Given the description of an element on the screen output the (x, y) to click on. 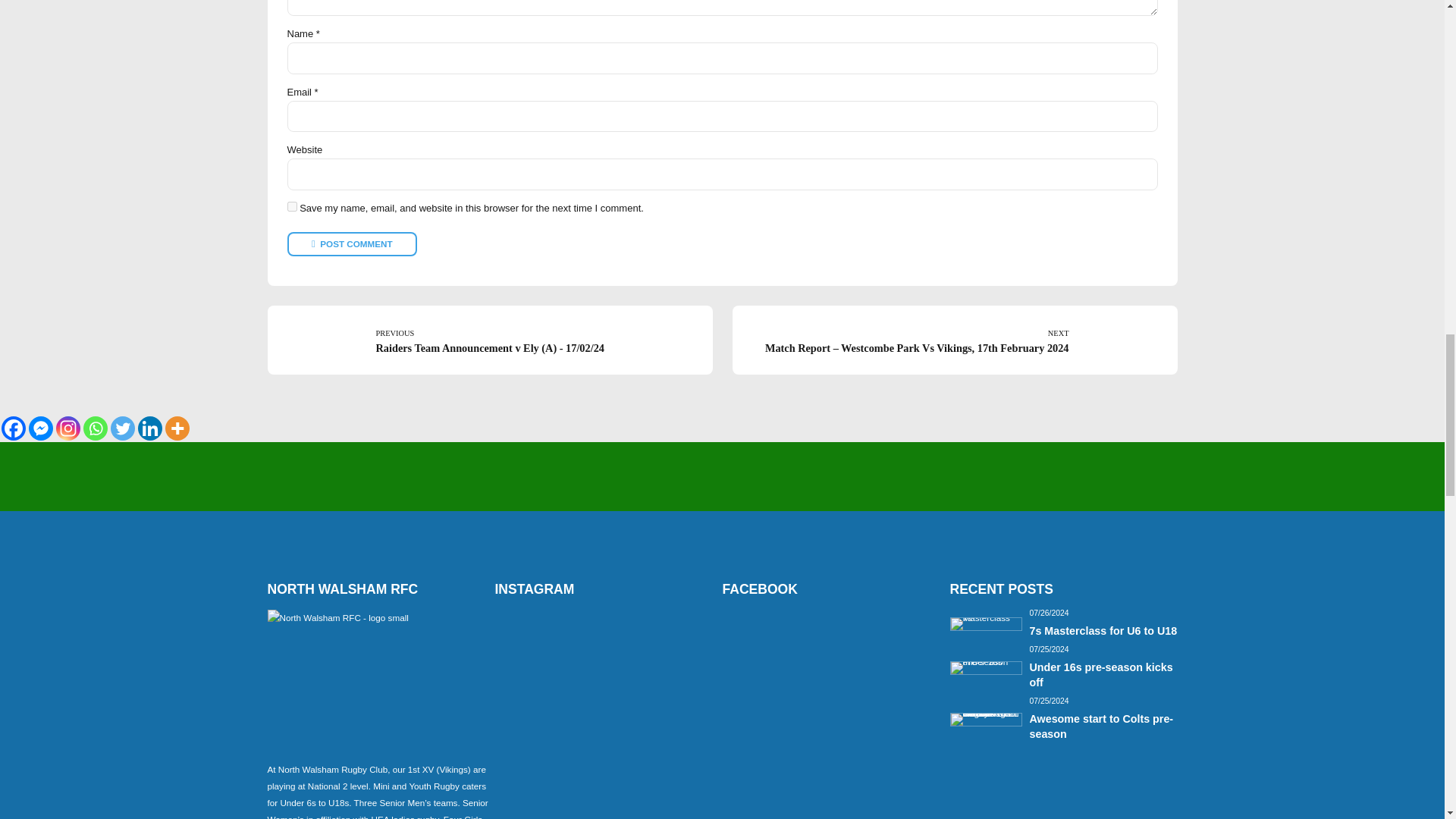
yes (291, 206)
